Given the description of an element on the screen output the (x, y) to click on. 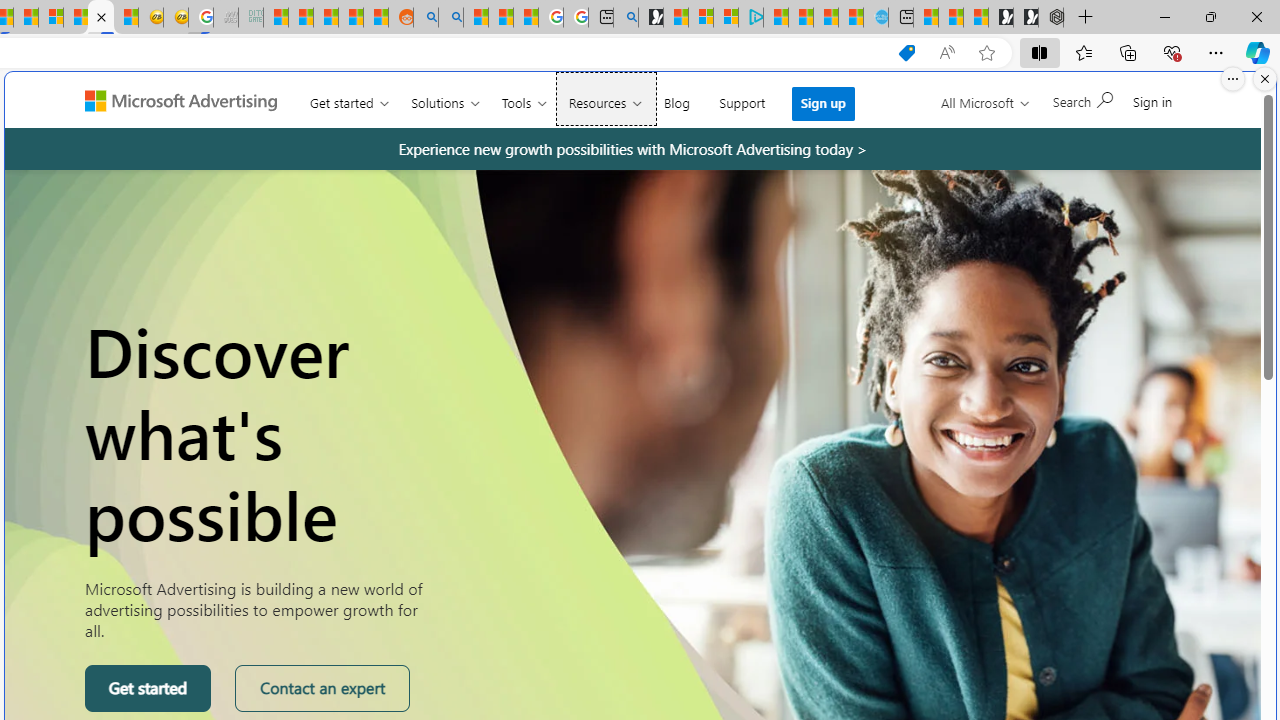
14 Common Myths Debunked By Scientific Facts (26, 17)
Contact an expert (322, 688)
Student Loan Update: Forgiveness Program Ends This Month (351, 17)
Blog (676, 98)
